Given the description of an element on the screen output the (x, y) to click on. 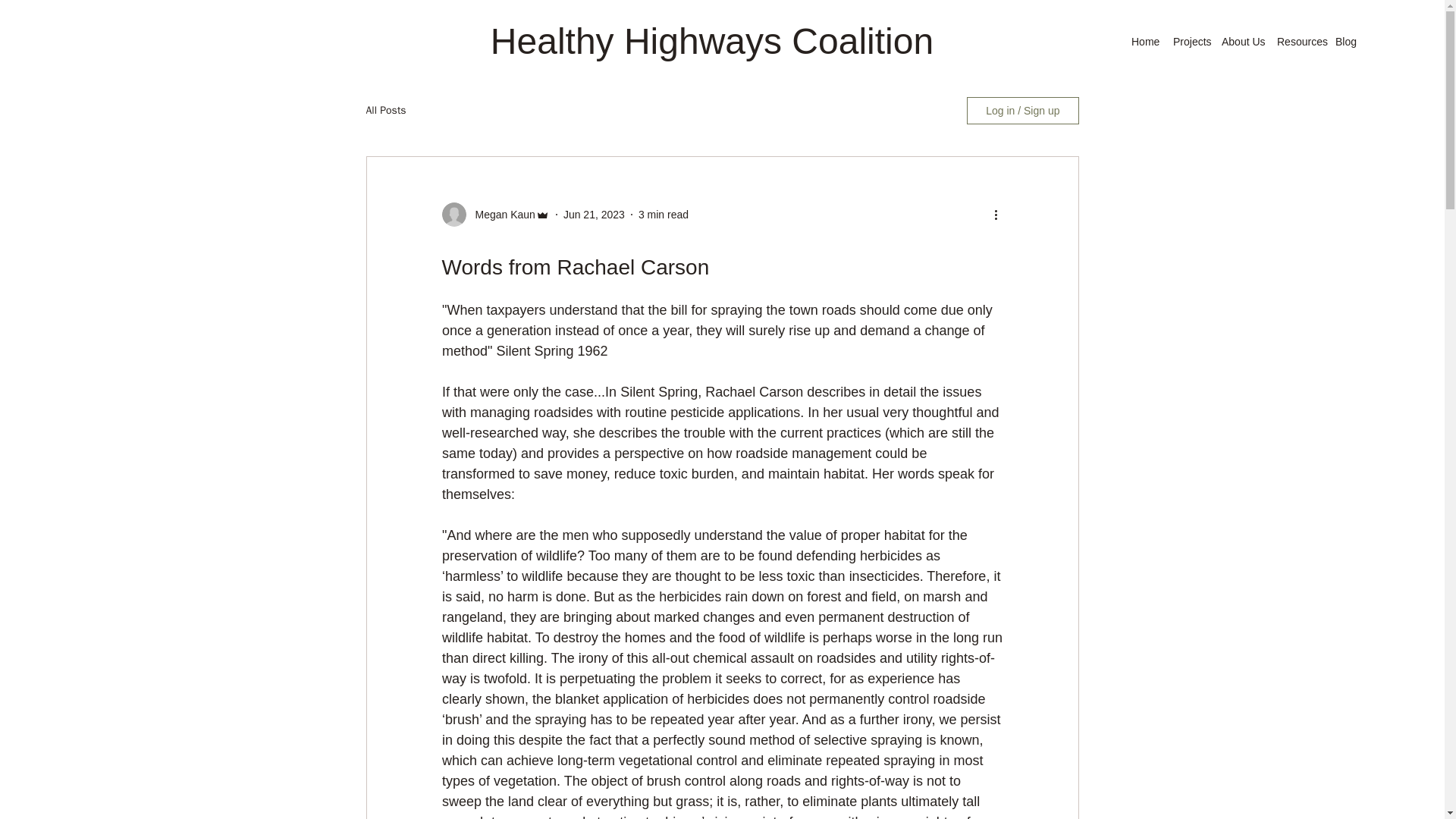
3 min read (663, 214)
All Posts (385, 110)
Megan Kaun (499, 213)
Blog (1344, 41)
Home (1145, 41)
About Us (1241, 41)
Resources (1298, 41)
Projects (1190, 41)
Jun 21, 2023 (593, 214)
